Given the description of an element on the screen output the (x, y) to click on. 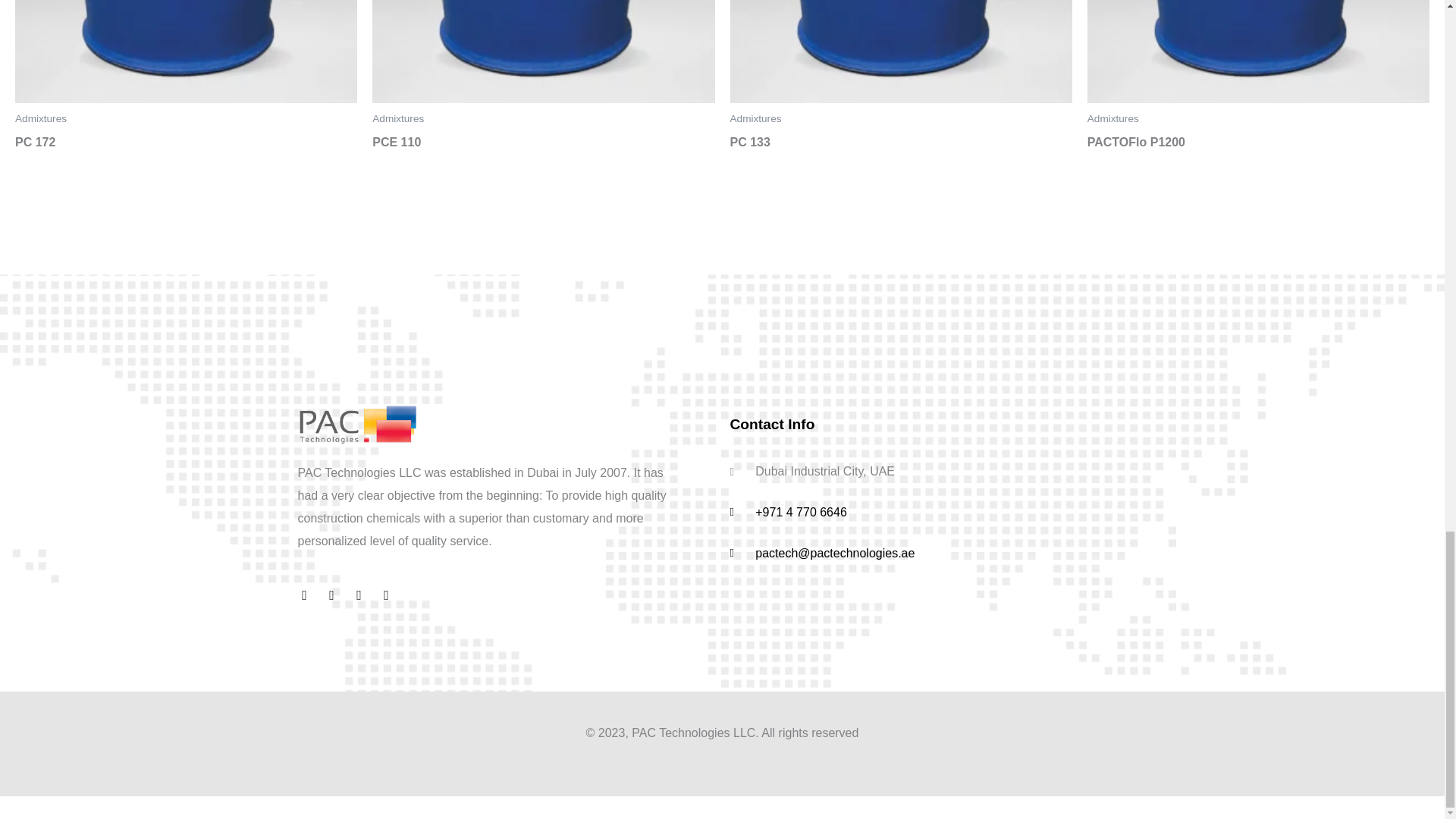
PC 172 (185, 146)
